Given the description of an element on the screen output the (x, y) to click on. 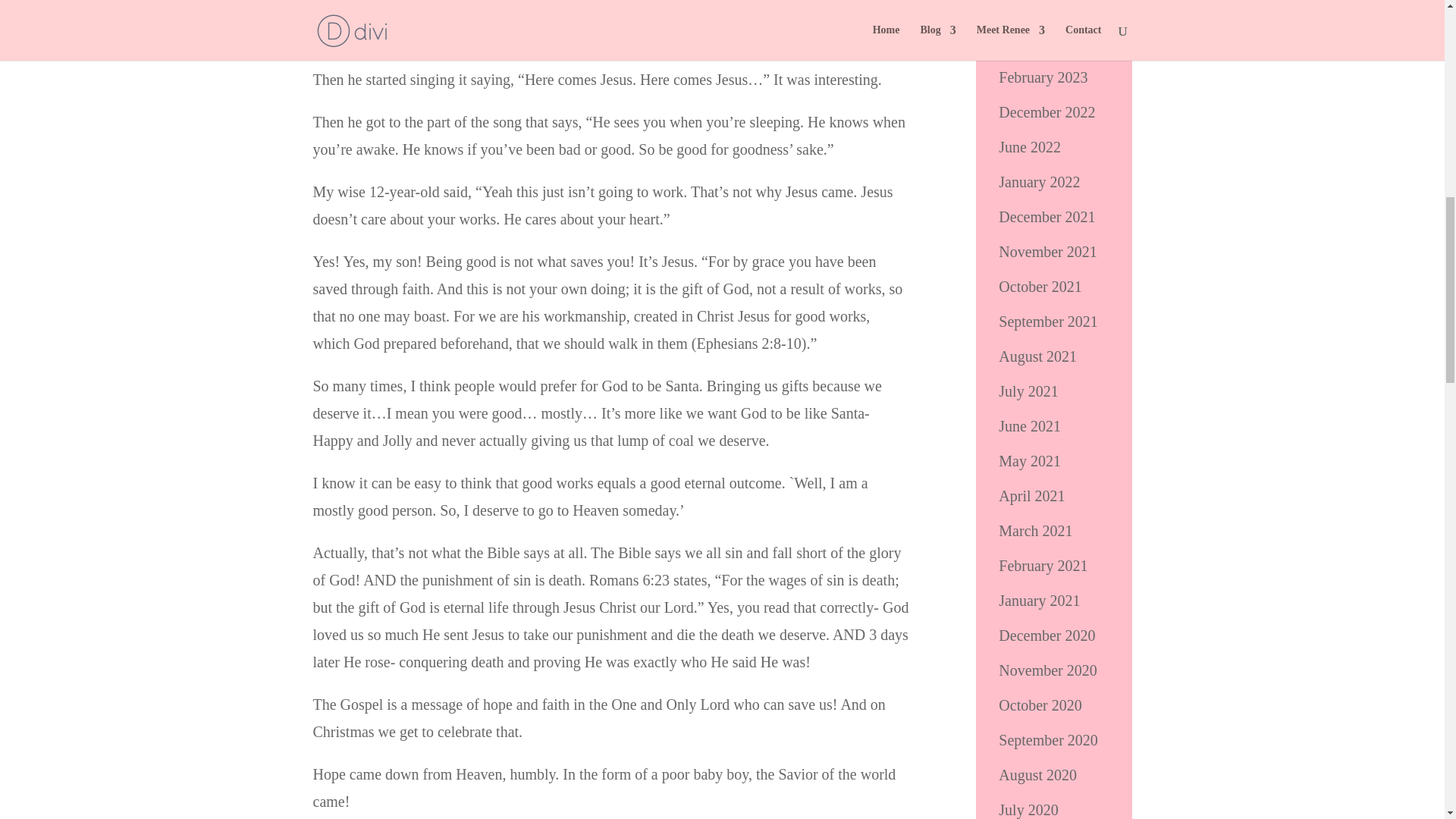
February 2023 (1042, 76)
August 2021 (1037, 356)
July 2021 (1028, 391)
May 2023 (1029, 7)
June 2022 (1029, 146)
September 2021 (1047, 321)
October 2021 (1039, 286)
January 2022 (1039, 181)
December 2022 (1046, 112)
December 2021 (1046, 216)
